Given the description of an element on the screen output the (x, y) to click on. 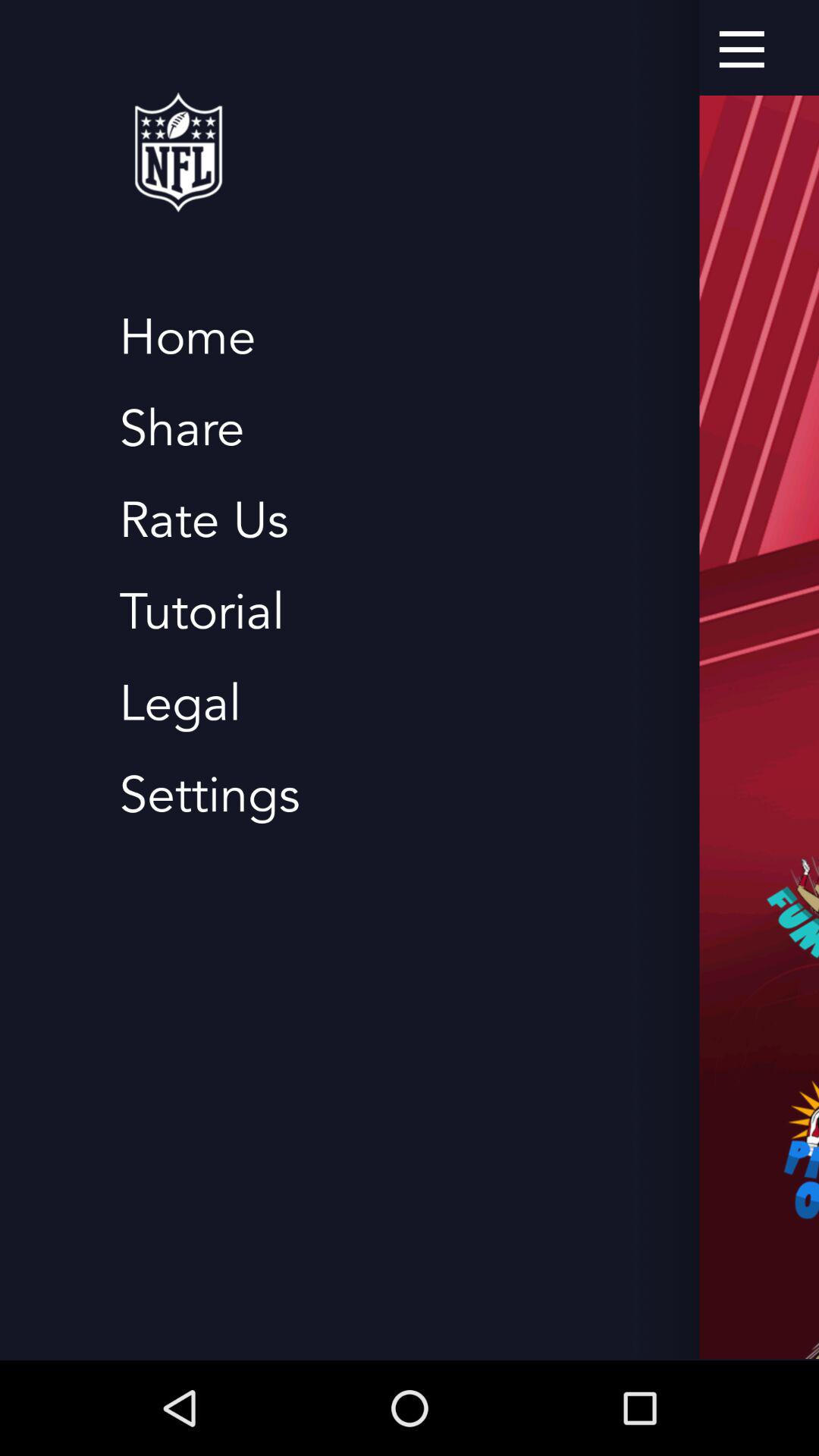
tap the item above the legal app (201, 612)
